Given the description of an element on the screen output the (x, y) to click on. 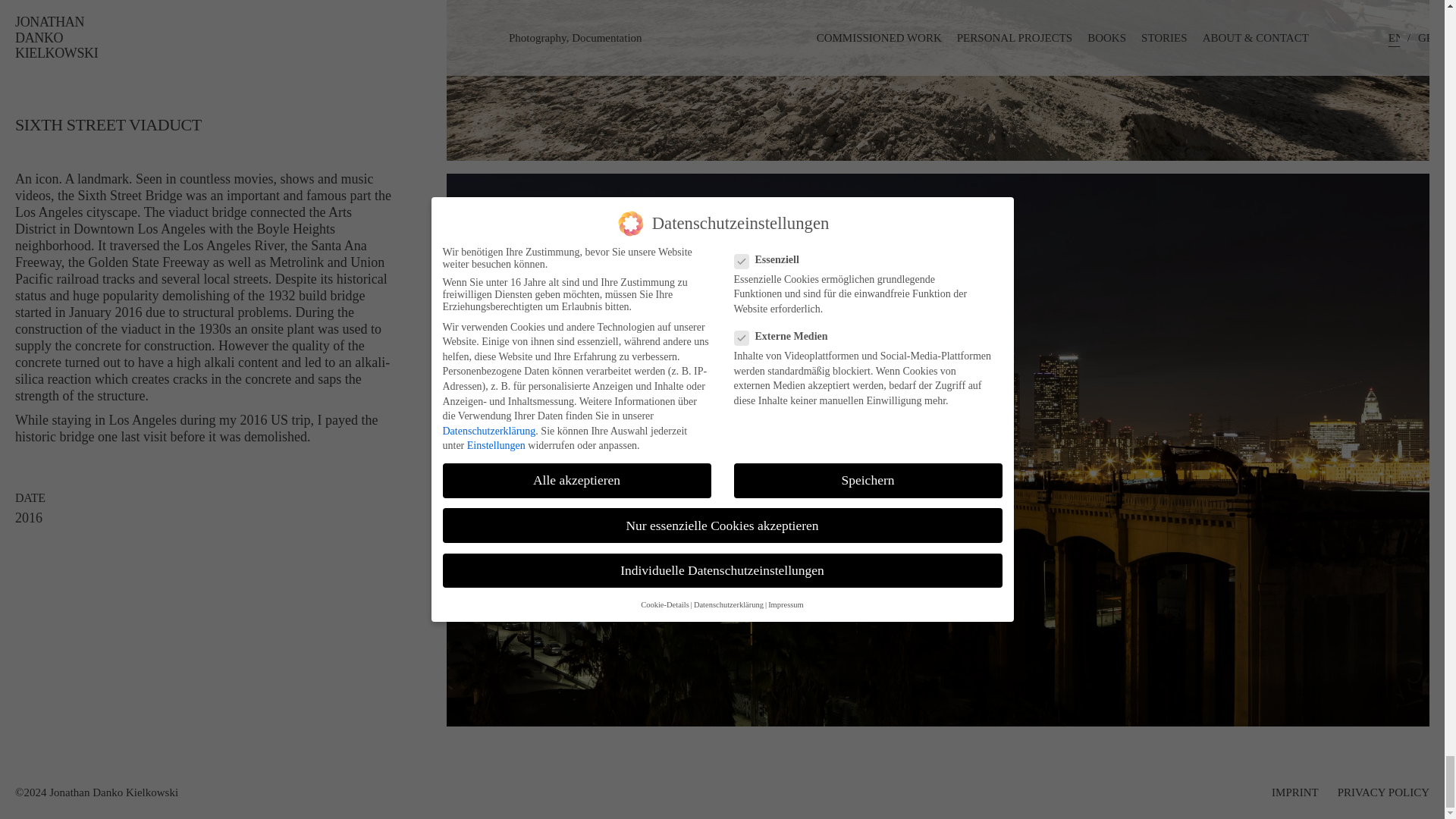
PRIVACY POLICY (1383, 792)
IMPRINT (1295, 792)
